Given the description of an element on the screen output the (x, y) to click on. 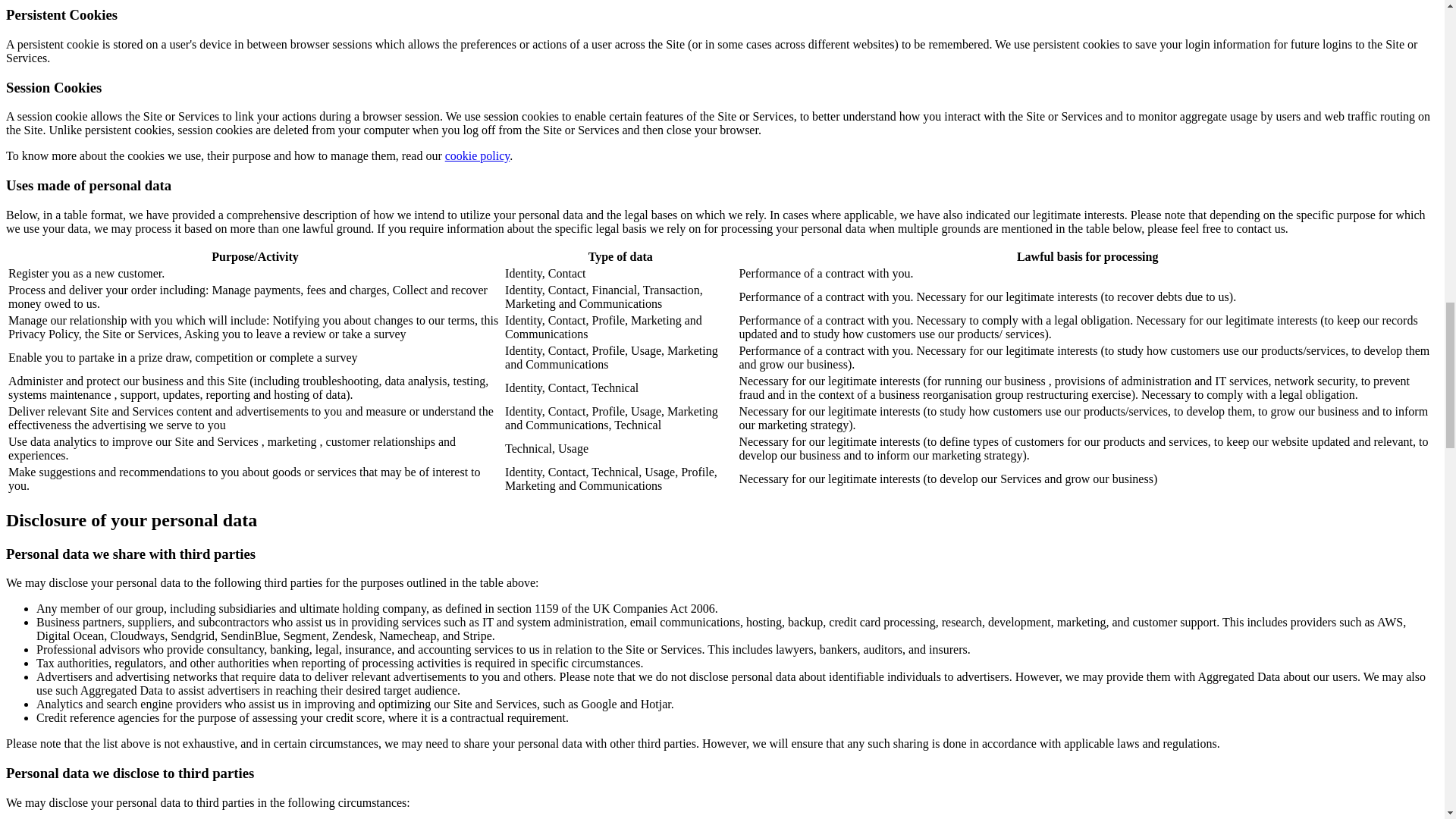
cookie policy (478, 155)
